Given the description of an element on the screen output the (x, y) to click on. 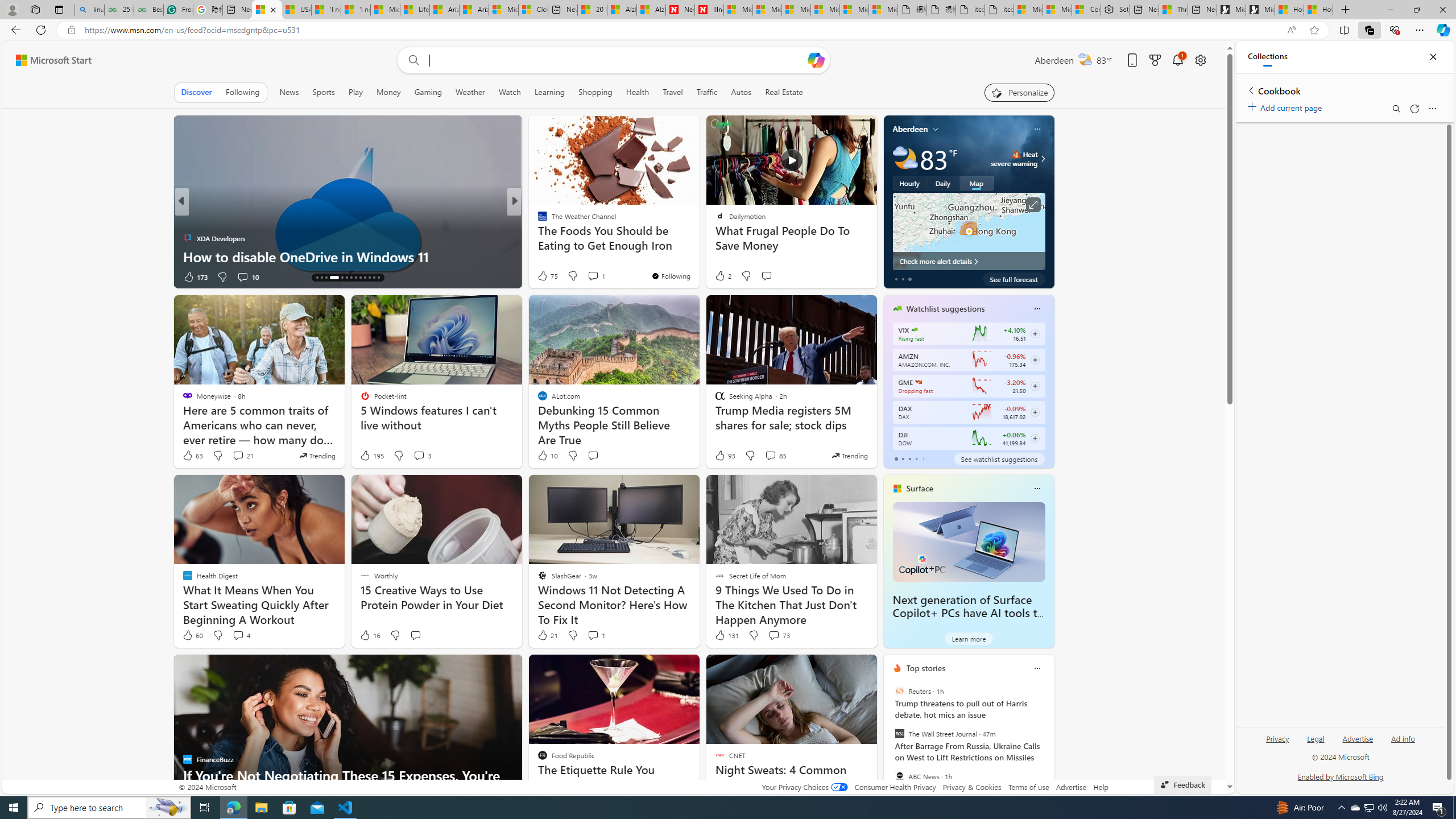
AutomationID: tab-26 (378, 277)
View comments 787 Comment (588, 276)
AutomationID: tab-18 (342, 277)
Hide this story (841, 668)
View comments 10 Comment (241, 276)
AutomationID: tab-16 (326, 277)
View comments 21 Comment (243, 455)
Aberdeen (910, 128)
32 Like (543, 276)
View comments 5 Comment (589, 276)
